Given the description of an element on the screen output the (x, y) to click on. 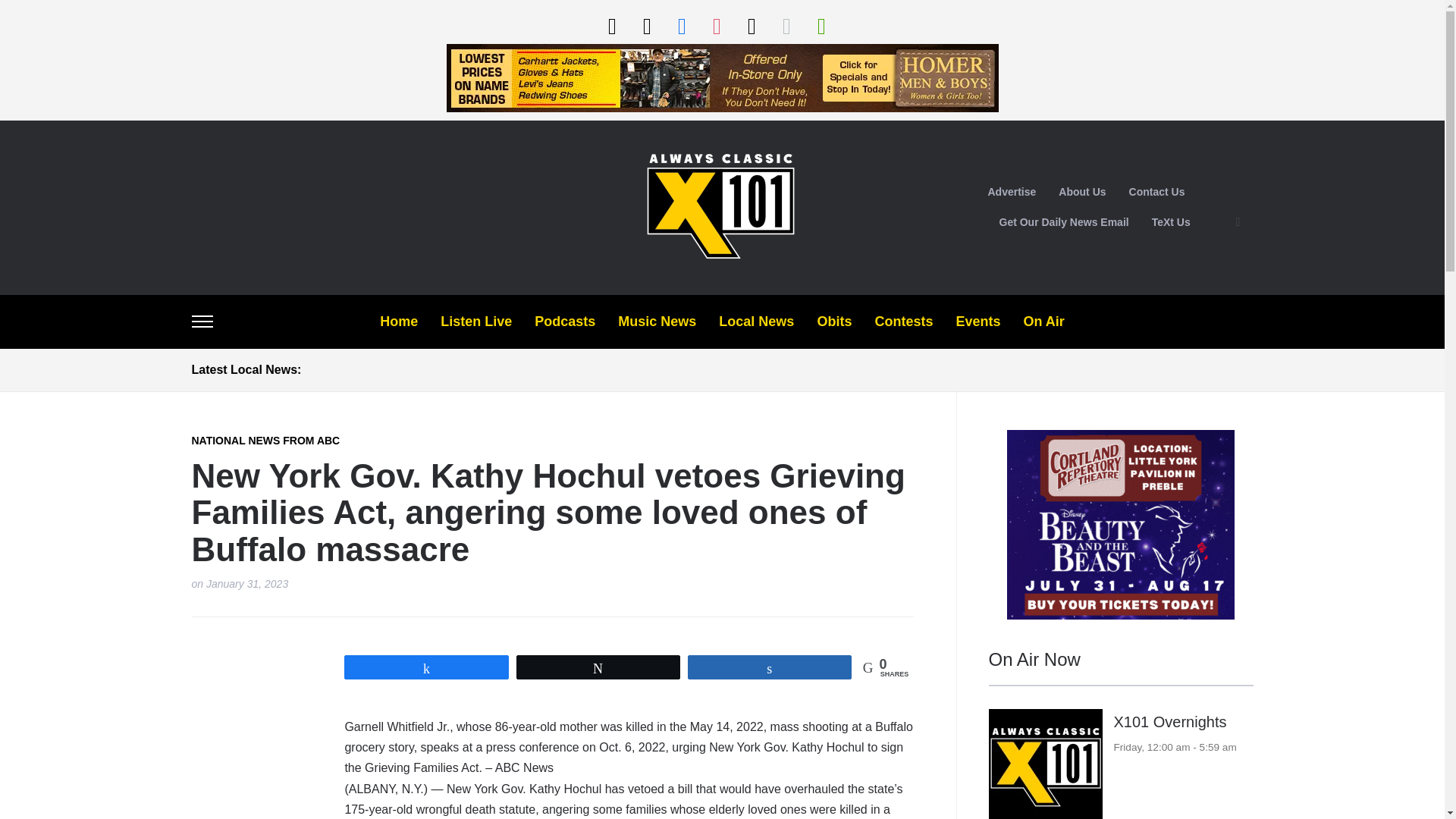
apple (785, 24)
facebook (680, 24)
Instagram (715, 24)
phone (646, 24)
x (750, 24)
Listen Live (611, 24)
Advertise (1011, 192)
play-circle-o (611, 24)
Default Label (785, 24)
Get Our Daily News Email (1063, 223)
Facebook (680, 24)
Contact Us (1157, 192)
instagram (715, 24)
play (820, 24)
Default Label (820, 24)
